Given the description of an element on the screen output the (x, y) to click on. 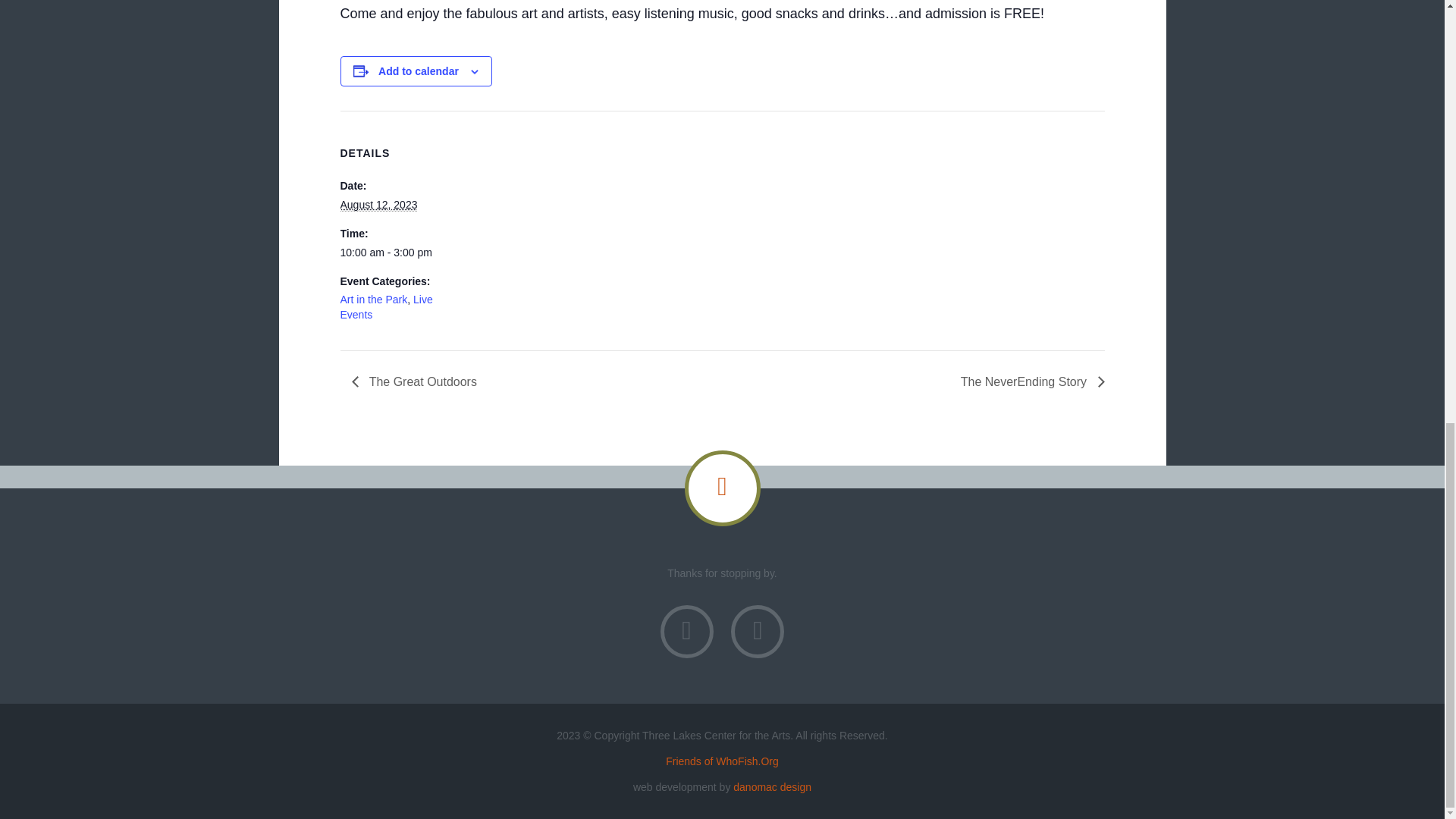
danomac design (771, 787)
Live Events (385, 307)
Art in the Park (373, 299)
Friends of WhoFish.Org (721, 761)
Add to calendar (418, 70)
The Great Outdoors (418, 381)
The NeverEnding Story (1028, 381)
